Given the description of an element on the screen output the (x, y) to click on. 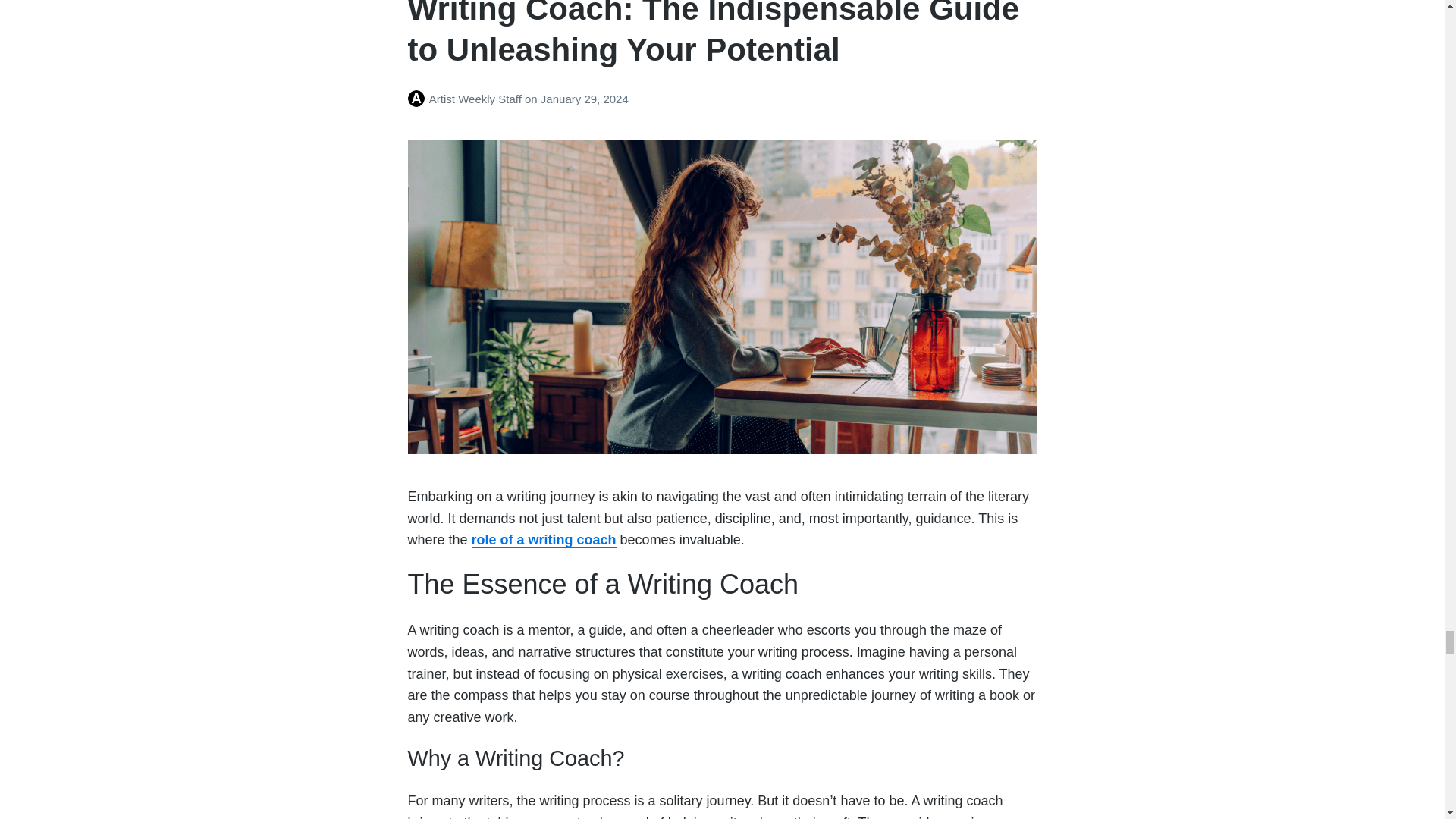
Posts by Artist Weekly Staff (418, 98)
